Given the description of an element on the screen output the (x, y) to click on. 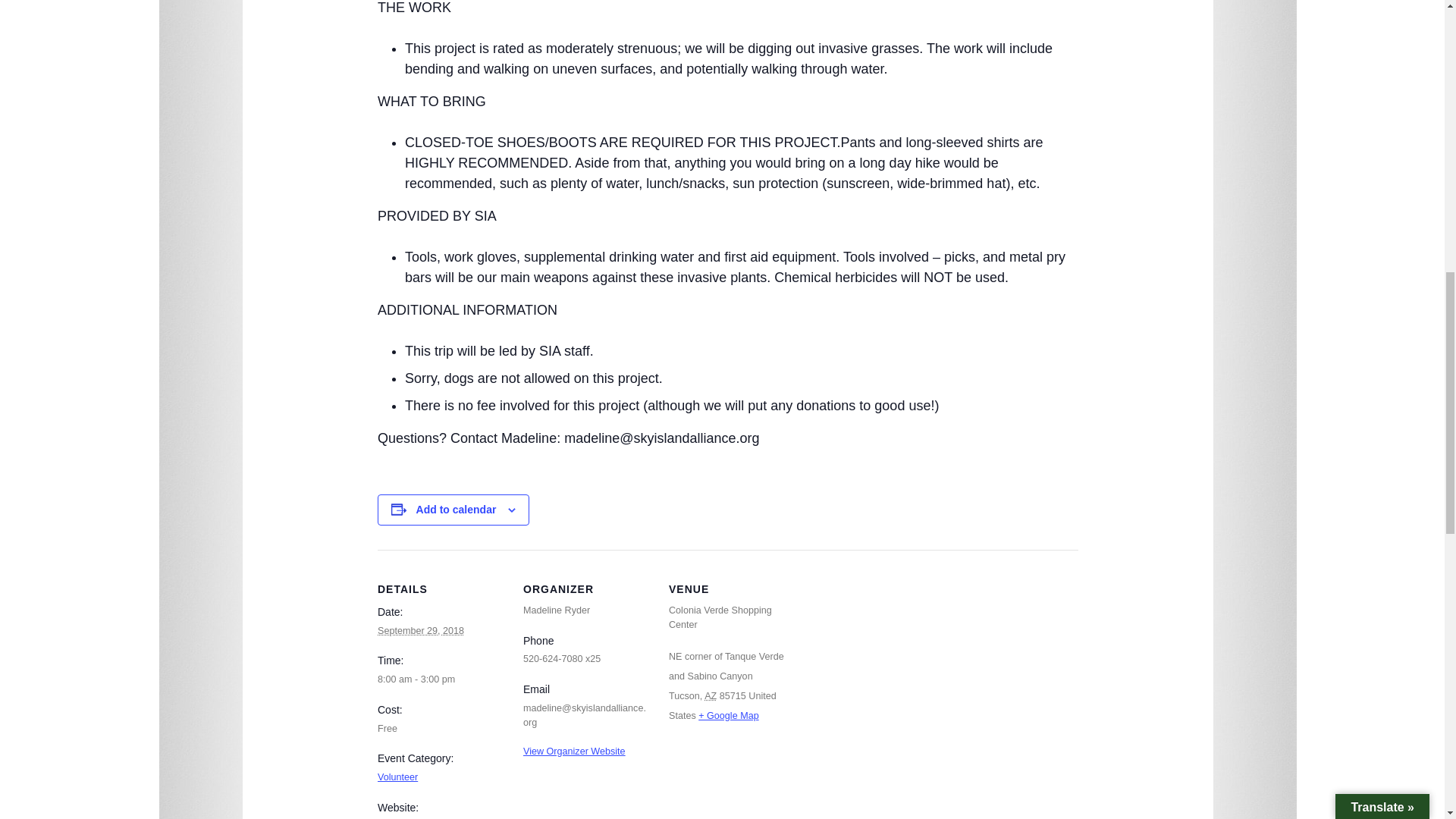
2018-09-29 (420, 630)
Arizona (710, 696)
Click to view a Google Map (728, 715)
2018-09-29 (441, 679)
